Given the description of an element on the screen output the (x, y) to click on. 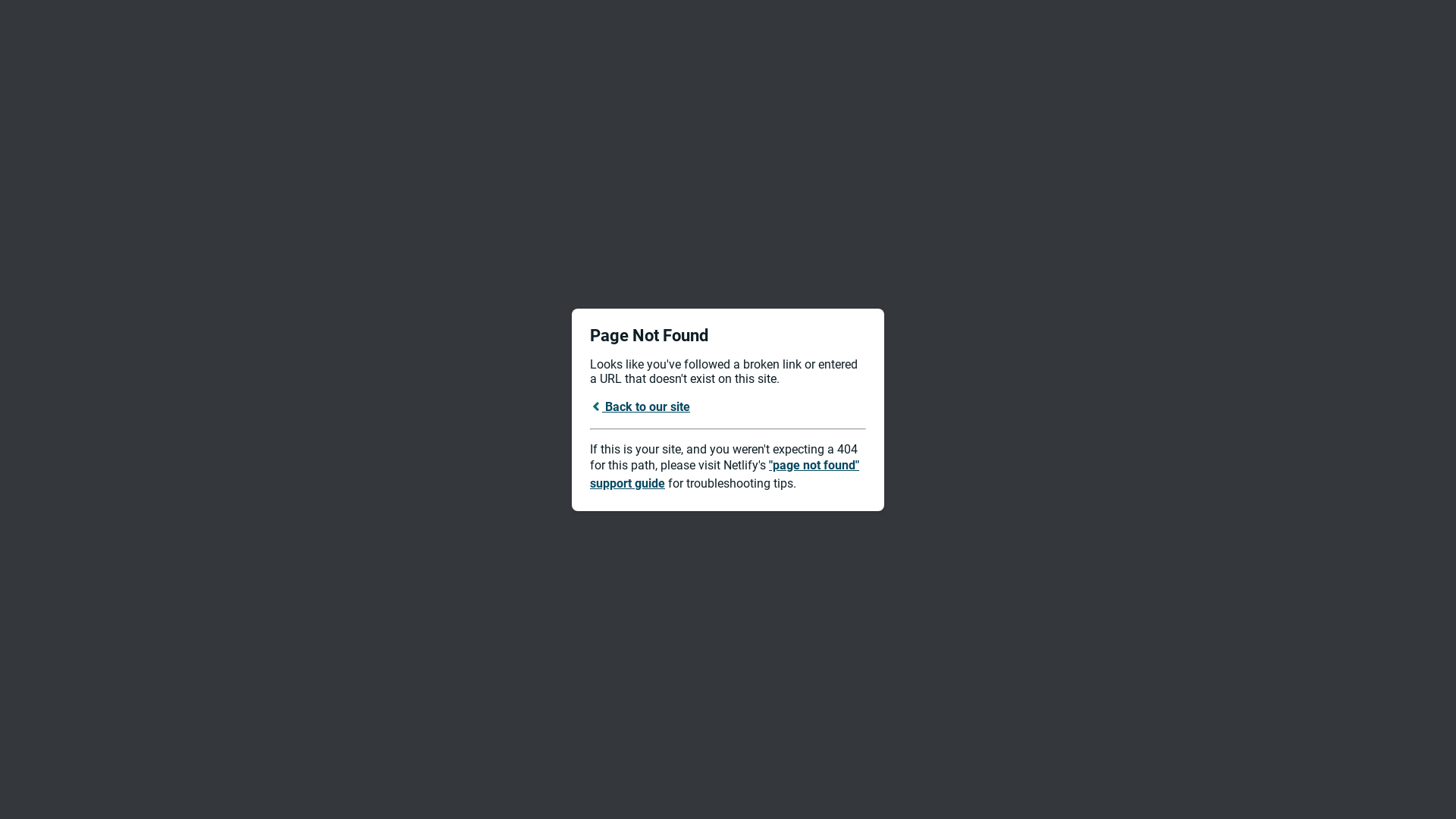
"page not found" support guide Element type: text (724, 474)
Back to our site Element type: text (639, 405)
